Given the description of an element on the screen output the (x, y) to click on. 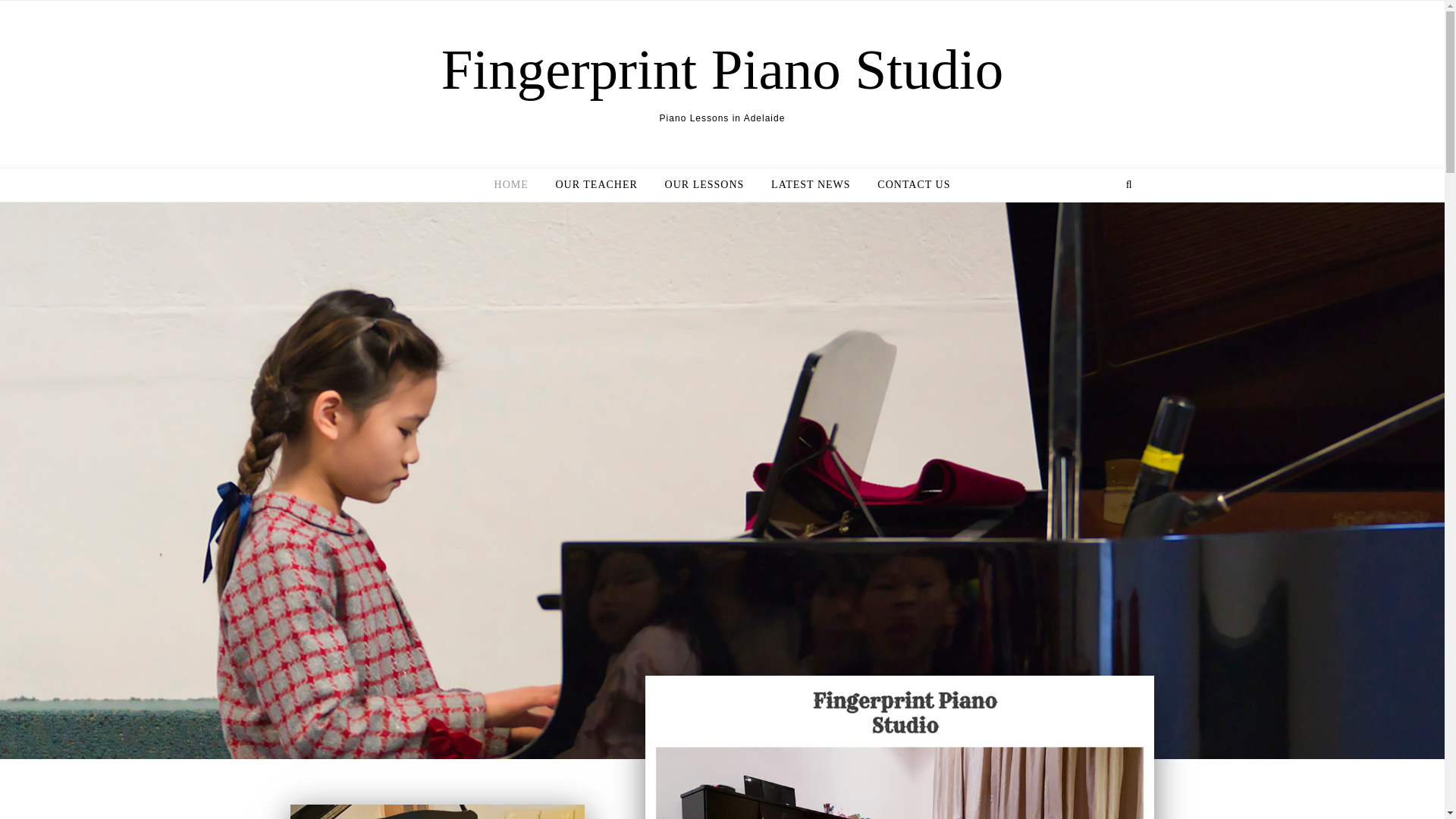
HOME (517, 184)
CONTACT US (907, 184)
OUR TEACHER (596, 184)
OUR LESSONS (704, 184)
Fingerprint Piano Studio (722, 68)
LATEST NEWS (809, 184)
